Given the description of an element on the screen output the (x, y) to click on. 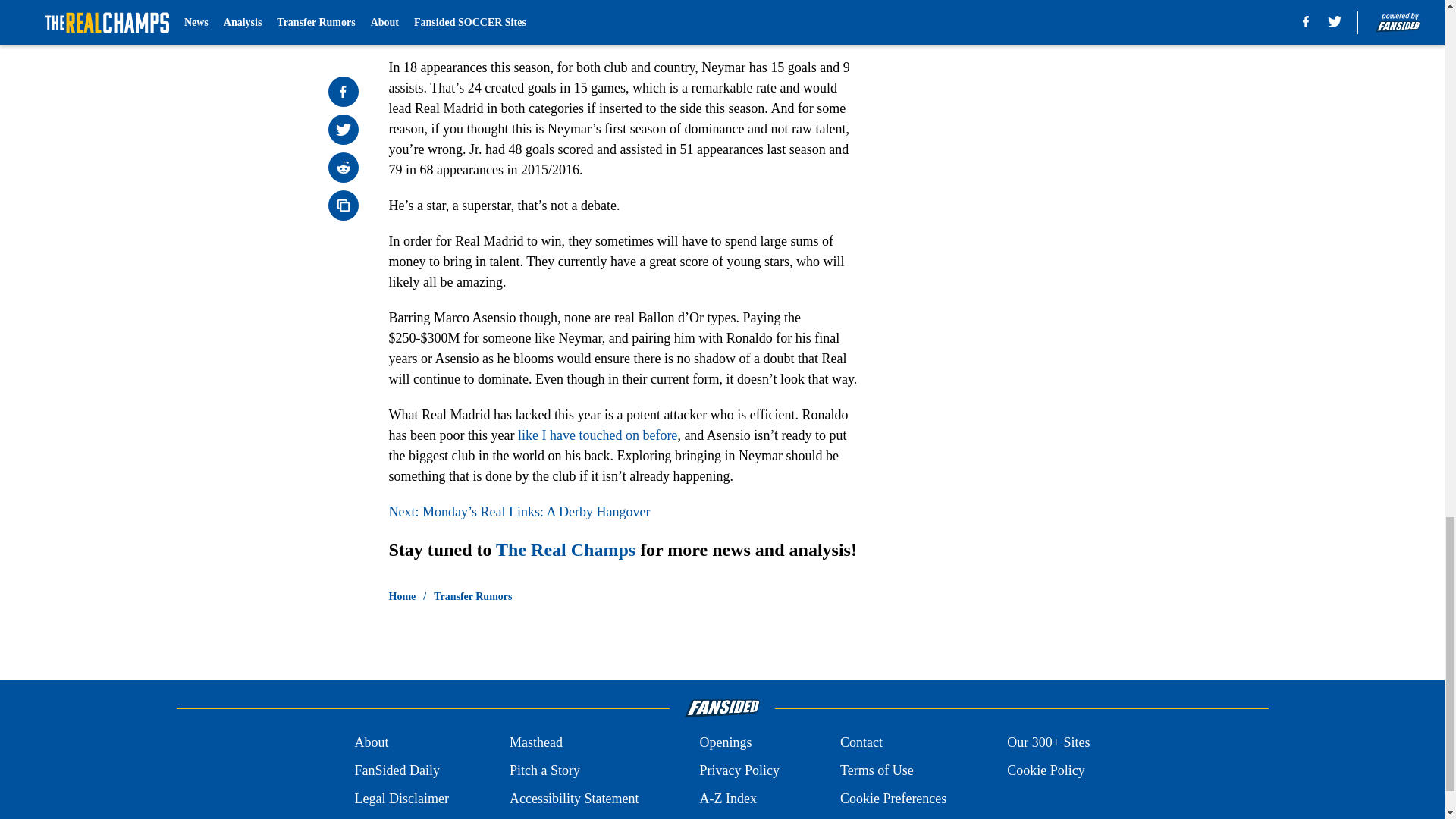
Pitch a Story (544, 770)
Privacy Policy (738, 770)
Masthead (535, 742)
Terms of Use (877, 770)
like I have touched on before (597, 435)
Transfer Rumors (472, 596)
Cookie Policy (1045, 770)
Contact (861, 742)
The Real Champs (565, 549)
Openings (724, 742)
About (370, 742)
A-Z Index (726, 798)
Home (401, 596)
FanSided Daily (396, 770)
Accessibility Statement (574, 798)
